Given the description of an element on the screen output the (x, y) to click on. 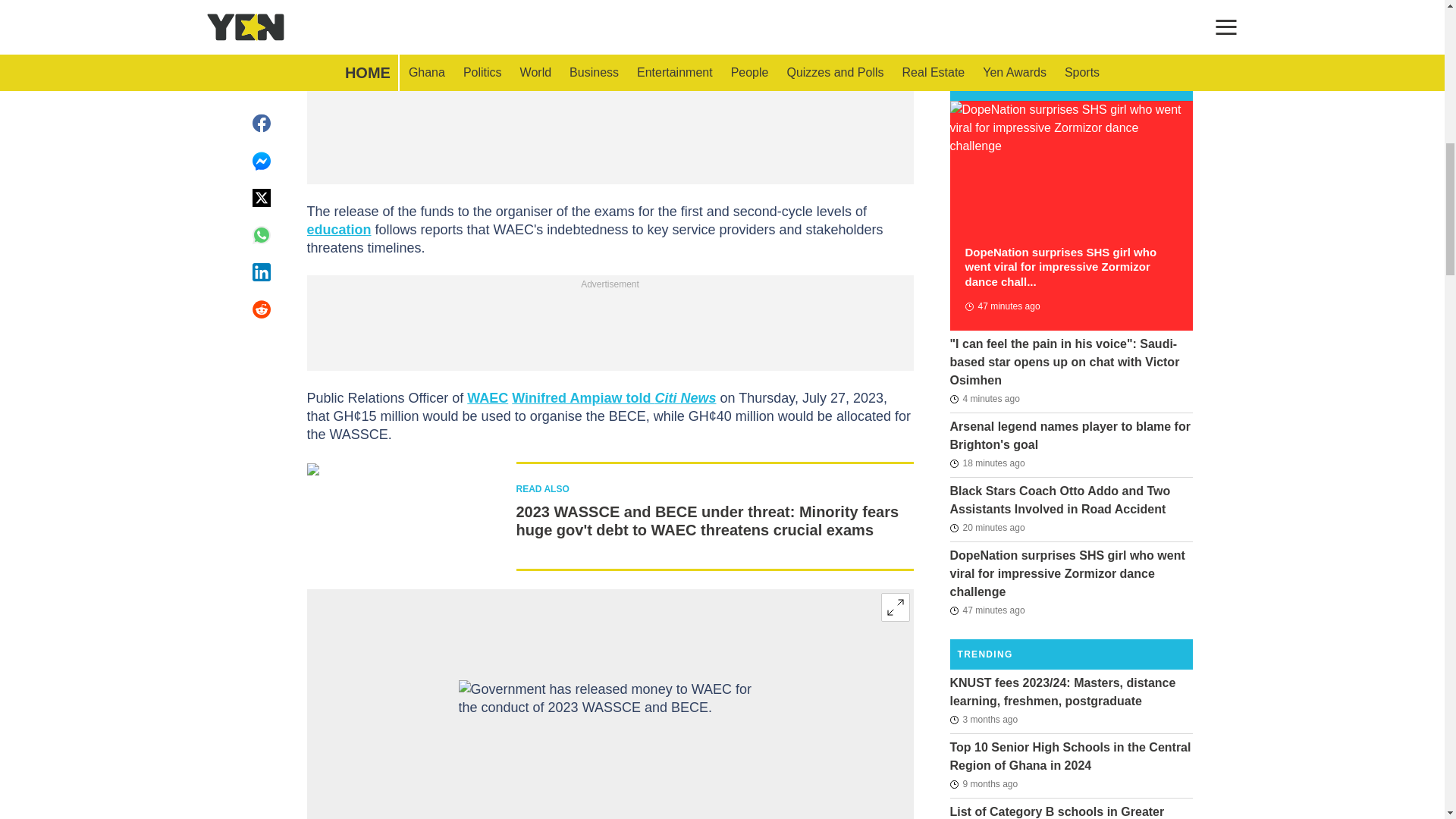
2024-09-01T10:00:52Z (987, 610)
2024-09-01T10:00:52Z (1001, 306)
2024-09-01T10:27:49Z (987, 527)
2024-05-03T12:20:16Z (983, 719)
2023-11-01T22:38:01Z (983, 783)
Expand image (895, 606)
2024-09-01T10:30:07Z (987, 463)
2024-09-01T10:44:11Z (984, 398)
